Given the description of an element on the screen output the (x, y) to click on. 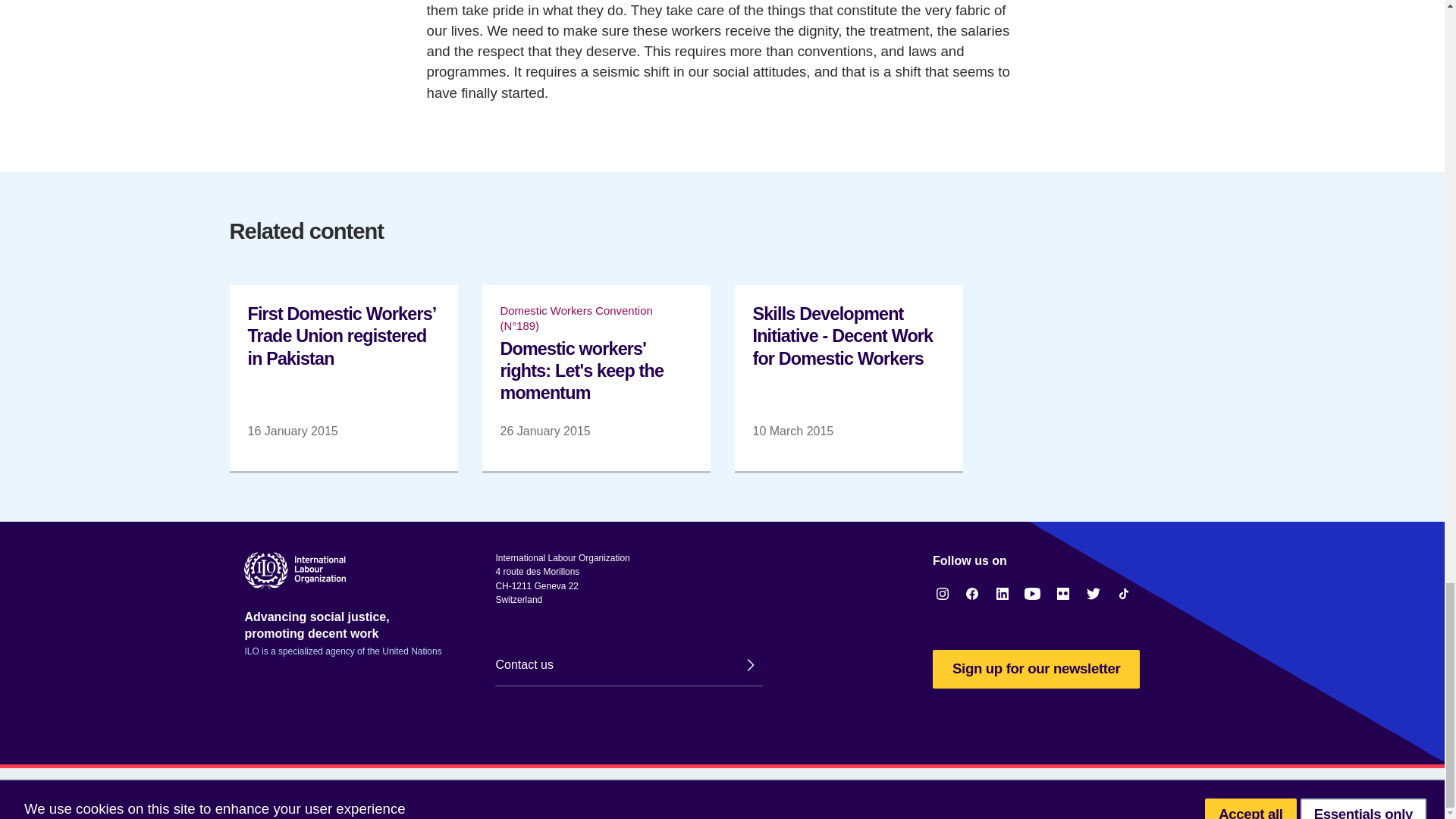
Twitter (1093, 593)
Flickr (1062, 593)
Domestic workers' rights: Let's keep the momentum (595, 377)
Tiktok (1123, 593)
Instagram (941, 593)
Facebook (971, 593)
Youtube (1032, 593)
Linkedin (1001, 593)
